Given the description of an element on the screen output the (x, y) to click on. 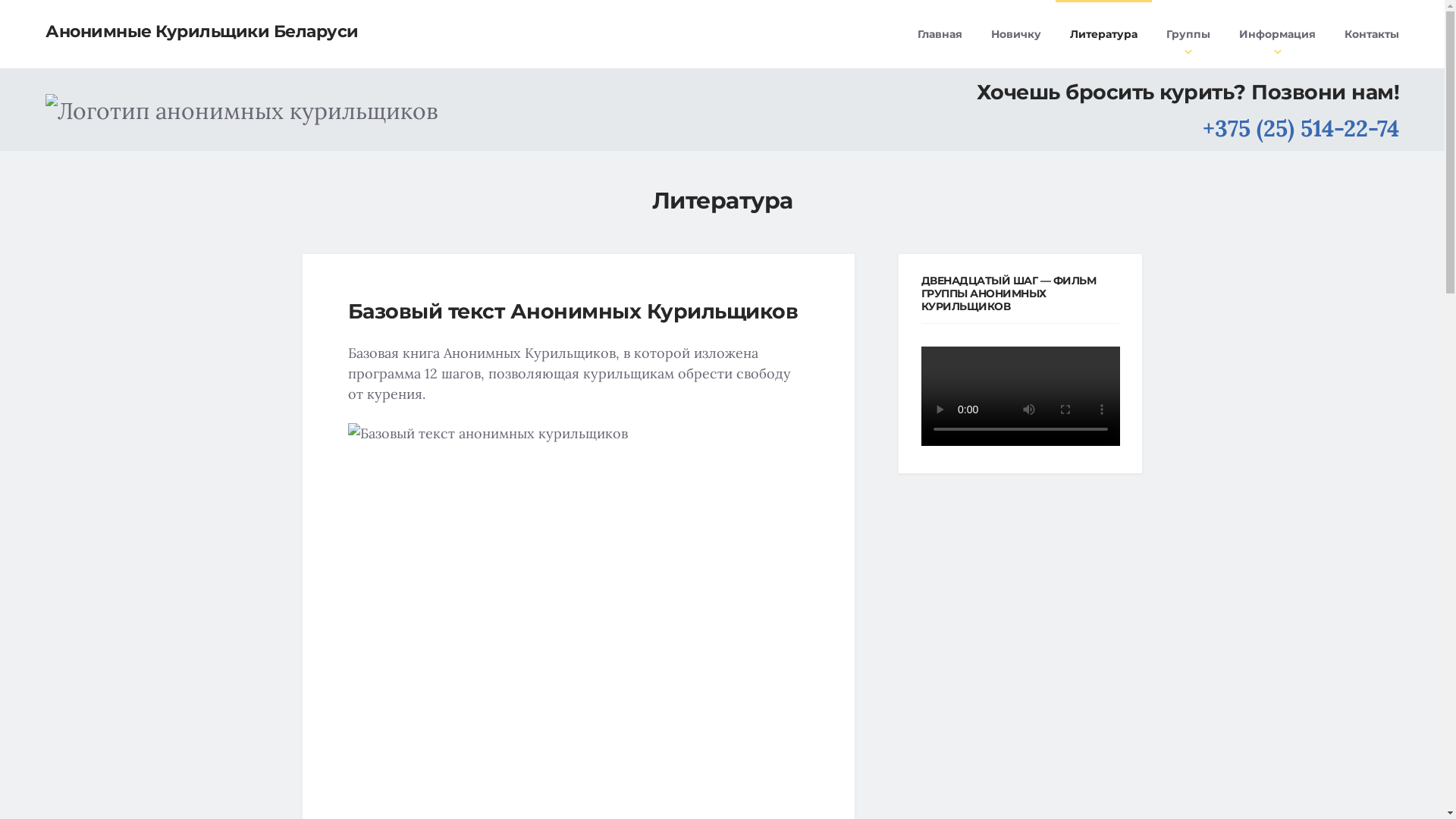
+375 (25) 514-22-74 Element type: text (1300, 128)
